Given the description of an element on the screen output the (x, y) to click on. 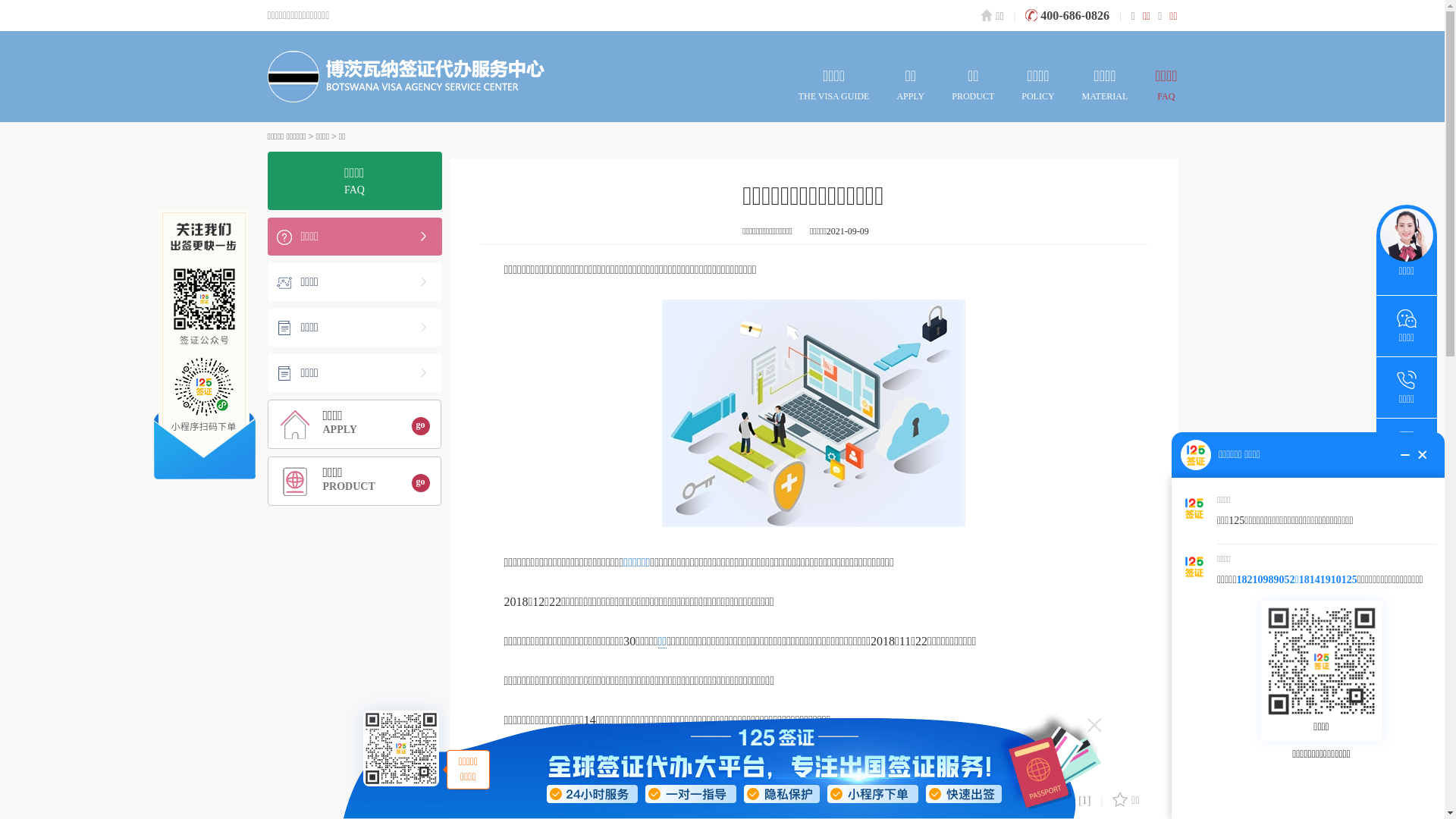
[1] Element type: text (1074, 800)
